Given the description of an element on the screen output the (x, y) to click on. 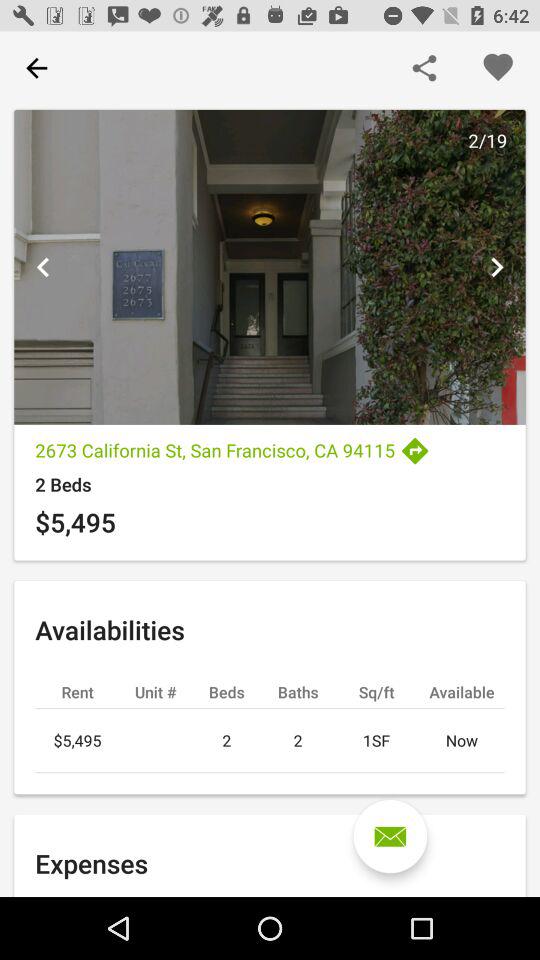
view next property (496, 267)
